Given the description of an element on the screen output the (x, y) to click on. 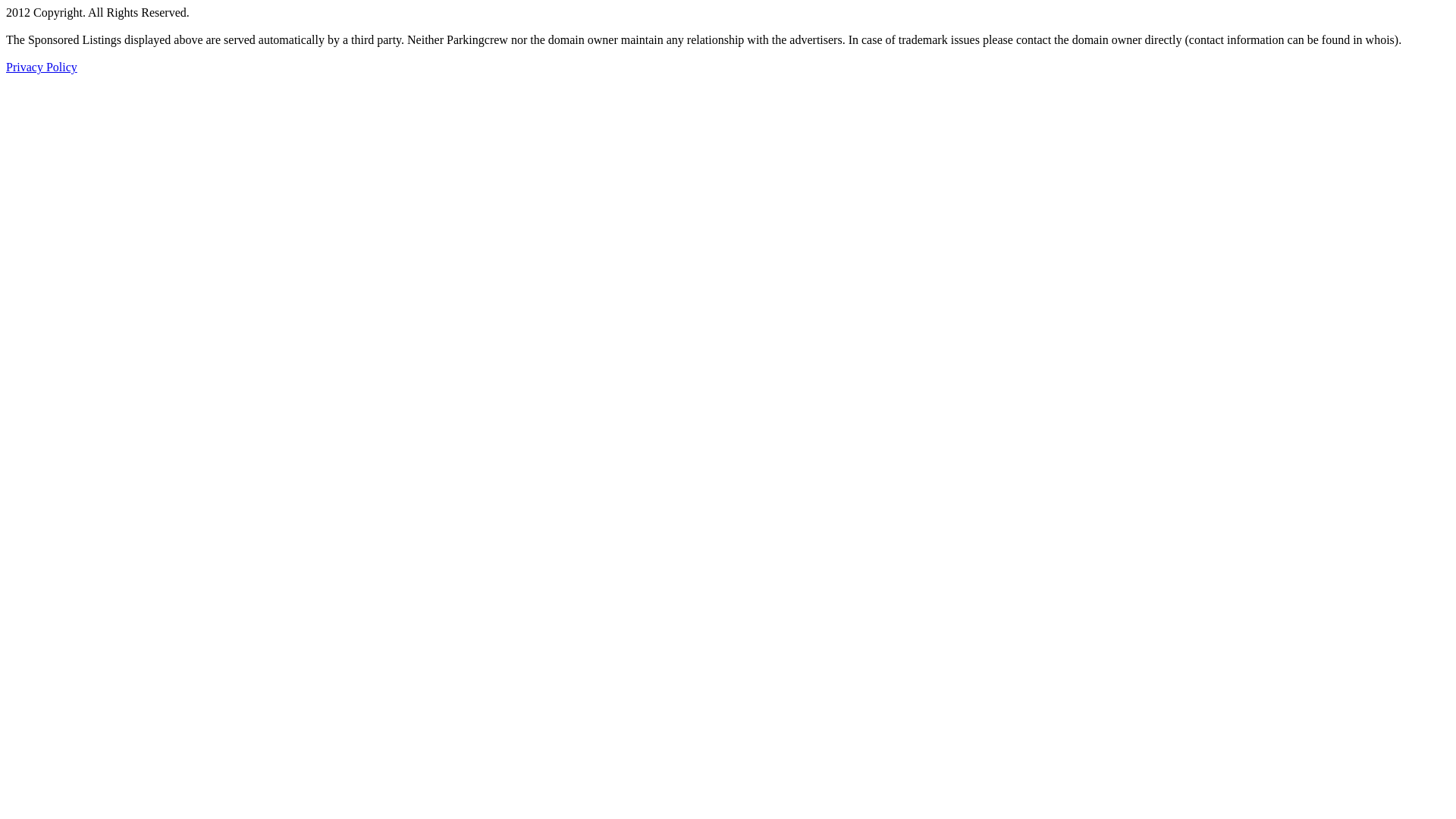
Privacy Policy Element type: text (41, 66)
